Given the description of an element on the screen output the (x, y) to click on. 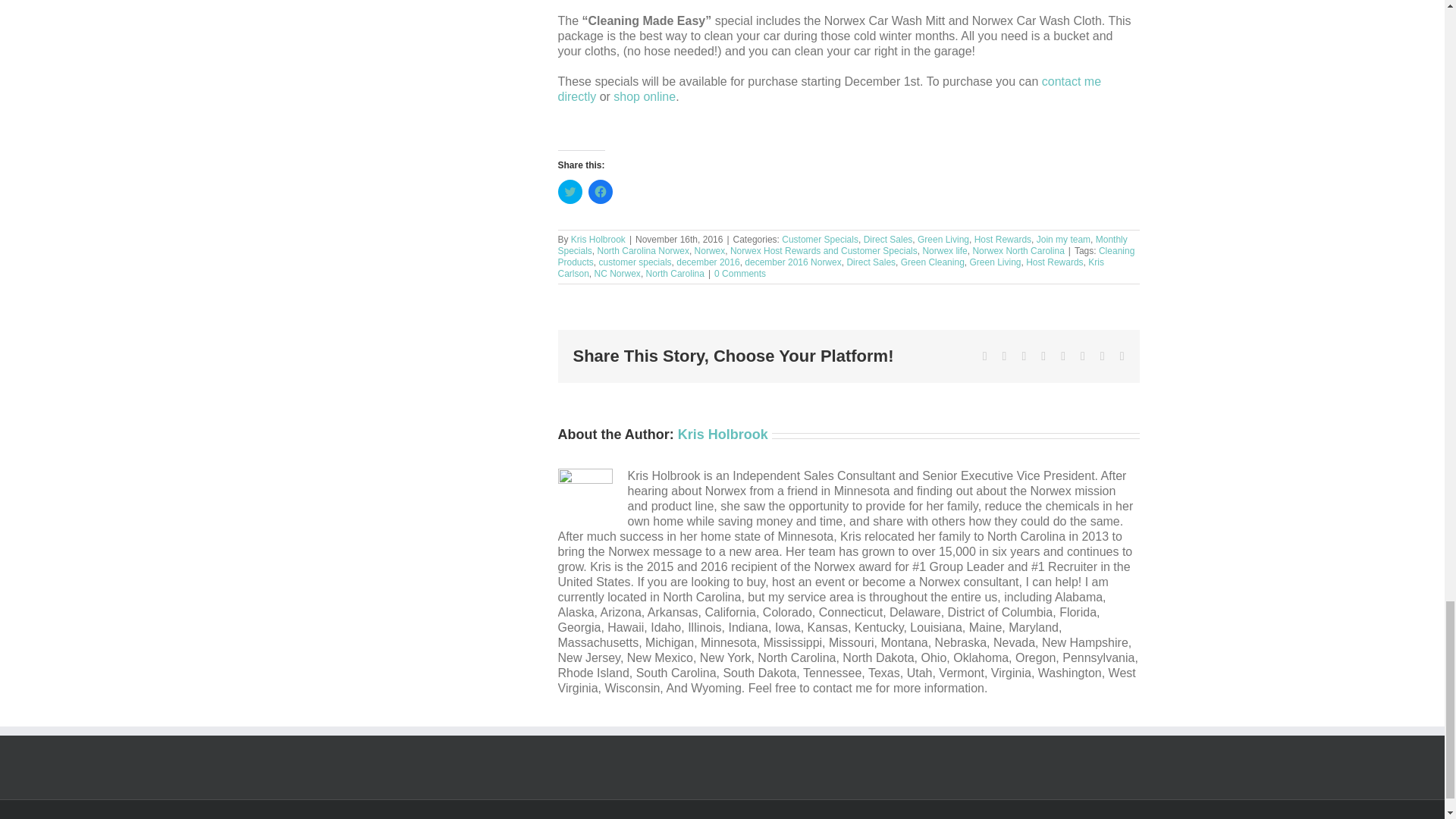
Click to share on Facebook (600, 191)
shop online (643, 96)
contact me directly (829, 89)
Posts by Kris Holbrook (598, 239)
Posts by Kris Holbrook (723, 434)
Kris Holbrook (598, 239)
Click to share on Twitter (569, 191)
